Given the description of an element on the screen output the (x, y) to click on. 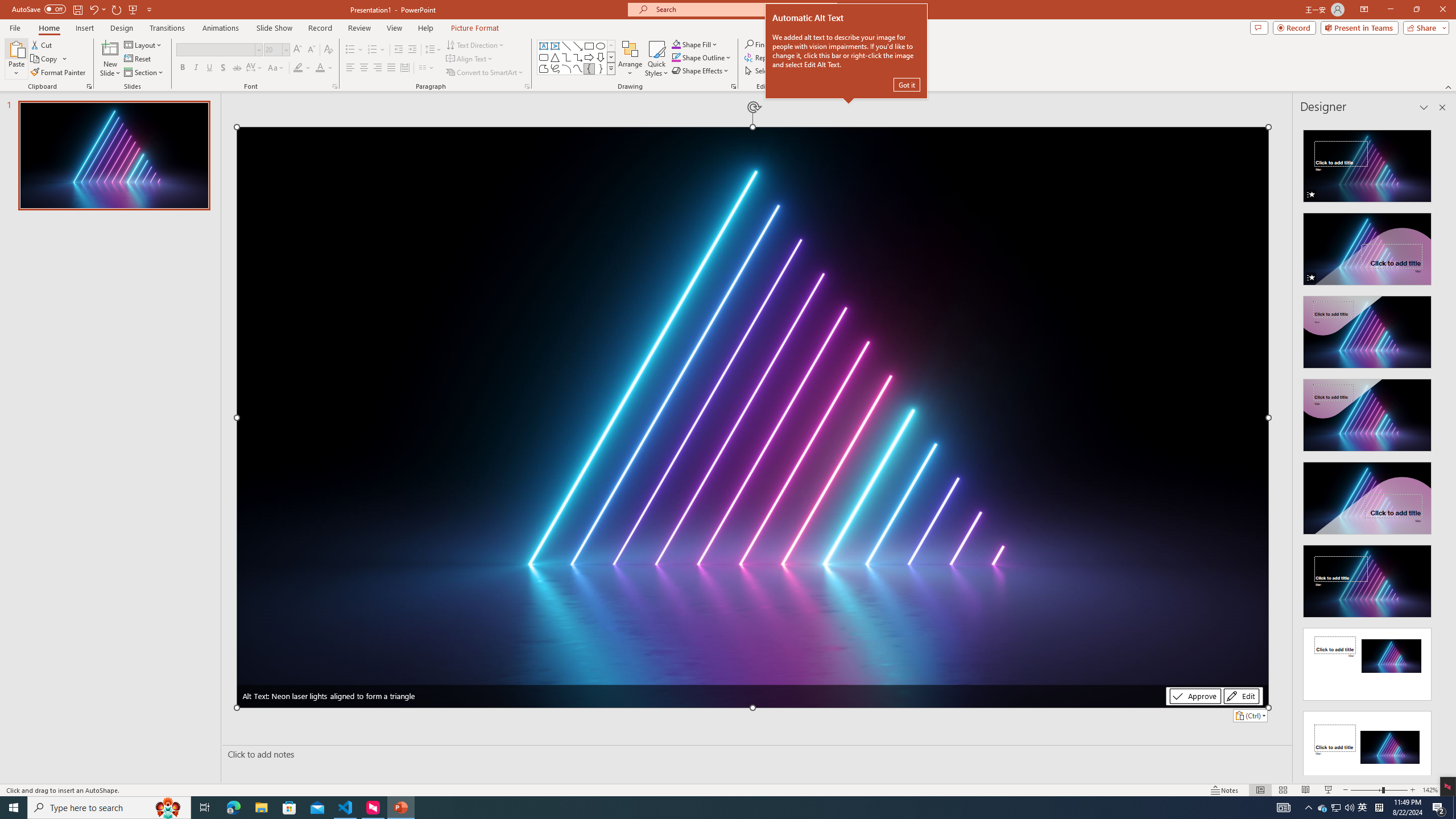
Zoom 142% (1430, 790)
